Given the description of an element on the screen output the (x, y) to click on. 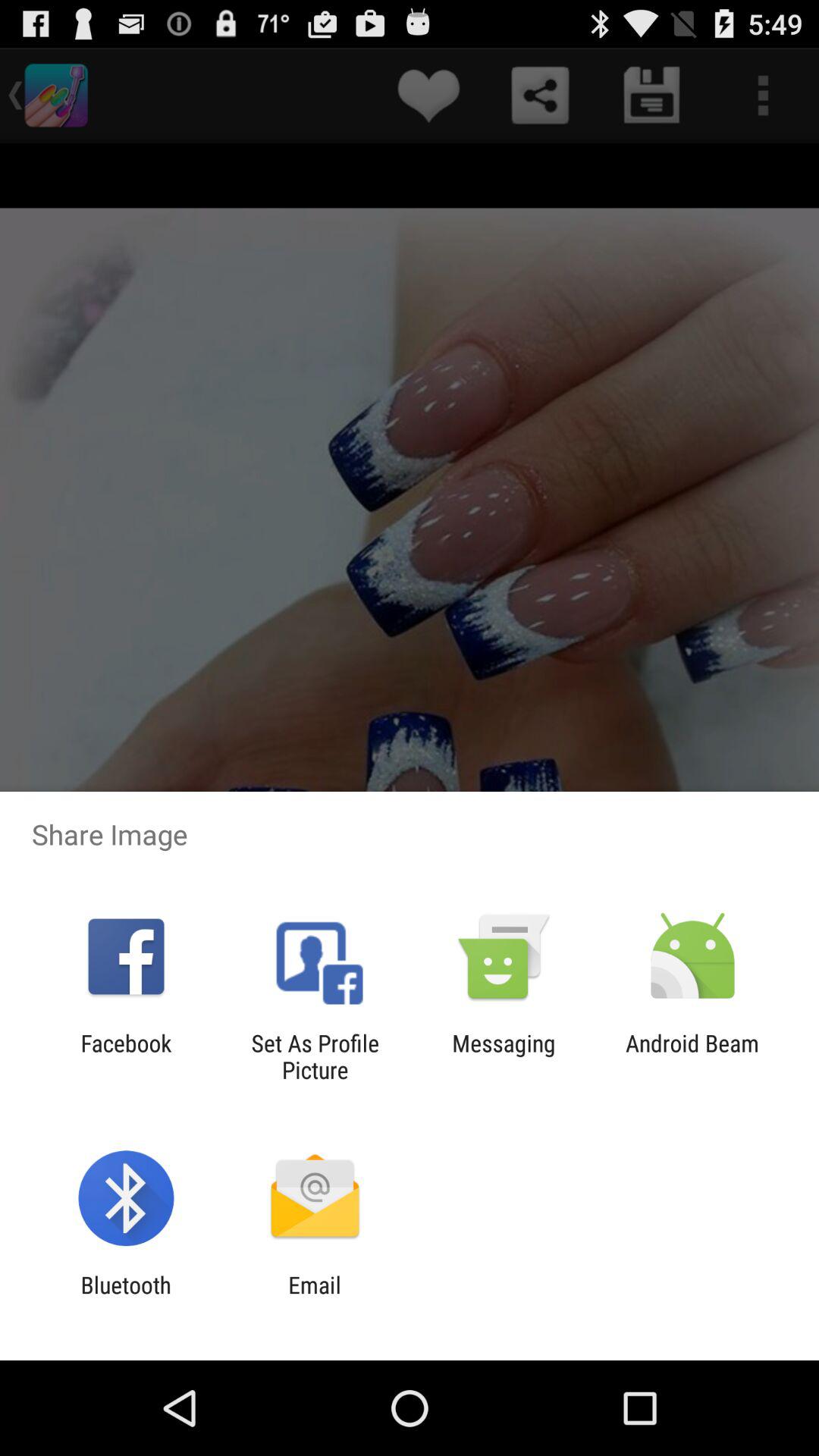
click the item next to messaging app (314, 1056)
